Given the description of an element on the screen output the (x, y) to click on. 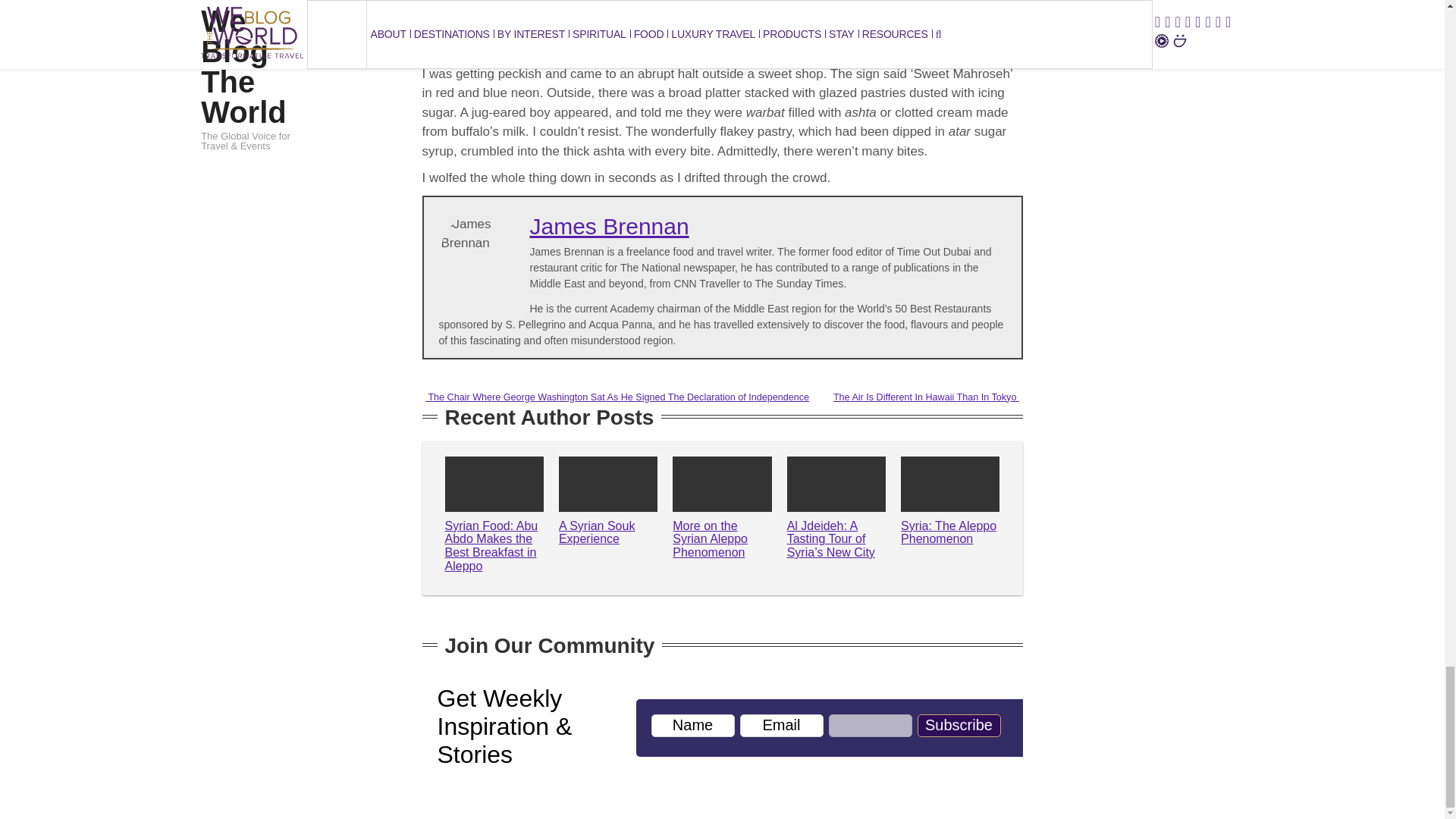
Name (691, 725)
Email (781, 725)
Subscribe (959, 725)
